Given the description of an element on the screen output the (x, y) to click on. 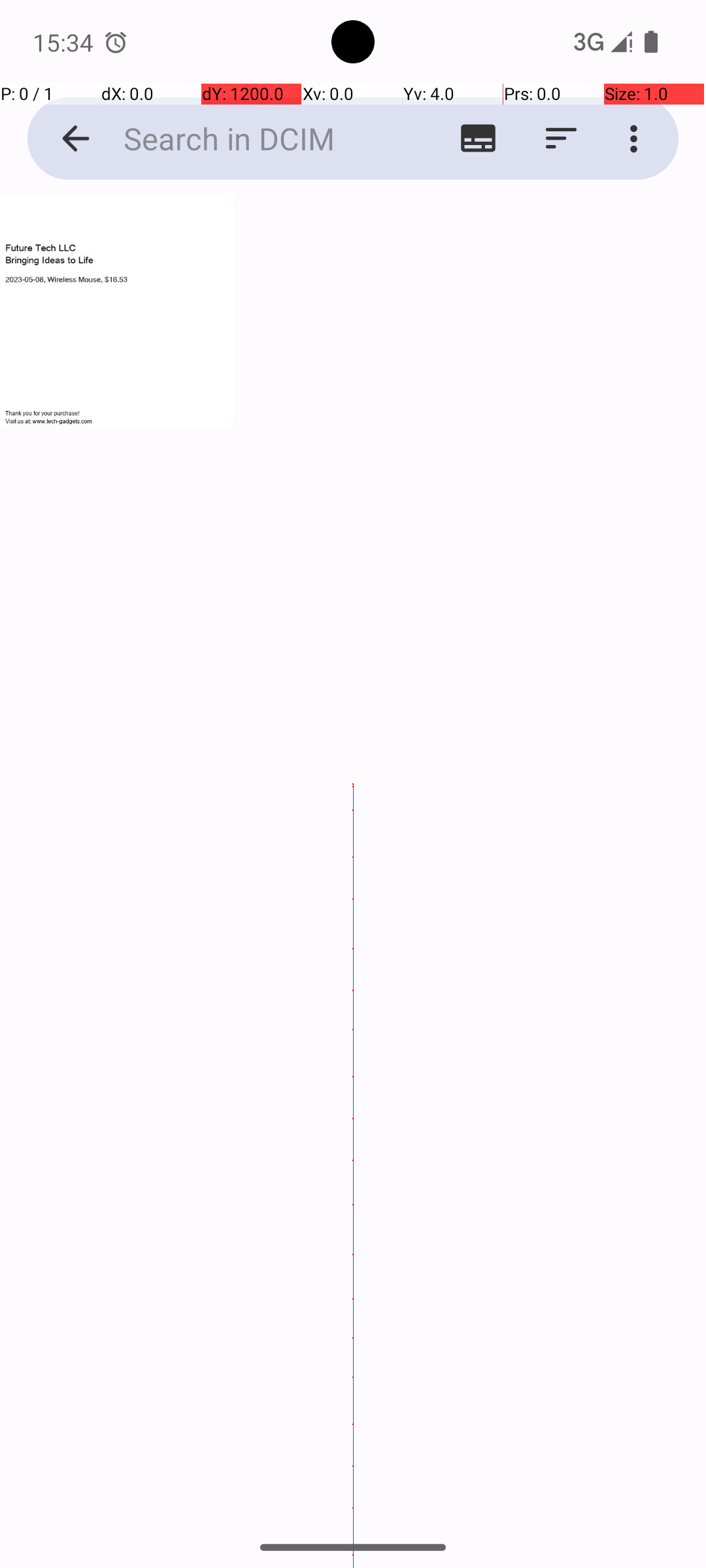
Search in DCIM Element type: android.widget.EditText (252, 138)
